Given the description of an element on the screen output the (x, y) to click on. 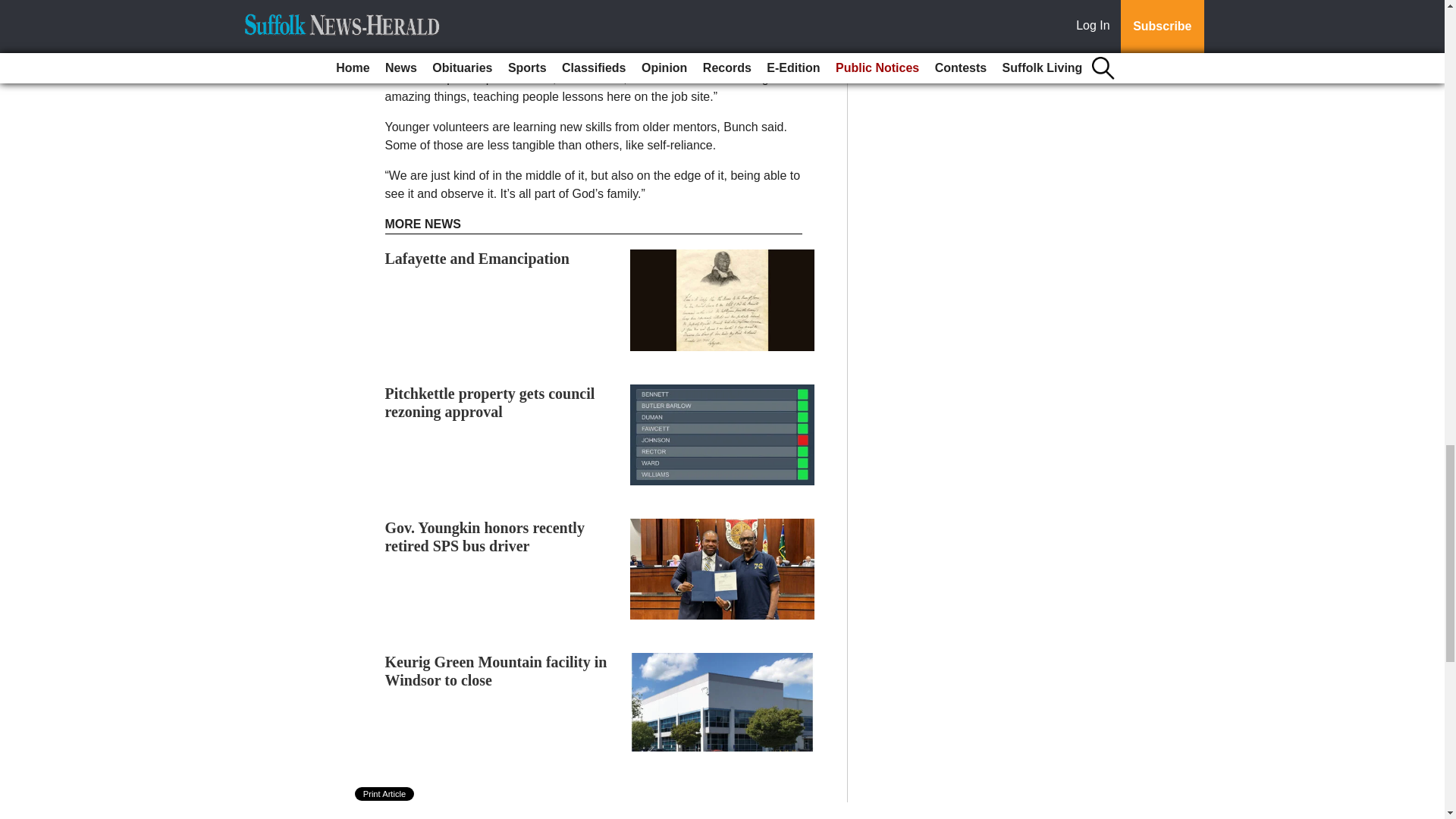
Keurig Green Mountain facility in Windsor to close (496, 670)
Lafayette and Emancipation (477, 258)
Pitchkettle property gets council rezoning approval (490, 402)
Print Article (384, 793)
Gov. Youngkin honors recently retired SPS bus driver (485, 536)
Pitchkettle property gets council rezoning approval (490, 402)
Gov. Youngkin honors recently retired SPS bus driver (485, 536)
Keurig Green Mountain facility in Windsor to close (496, 670)
Lafayette and Emancipation (477, 258)
